Given the description of an element on the screen output the (x, y) to click on. 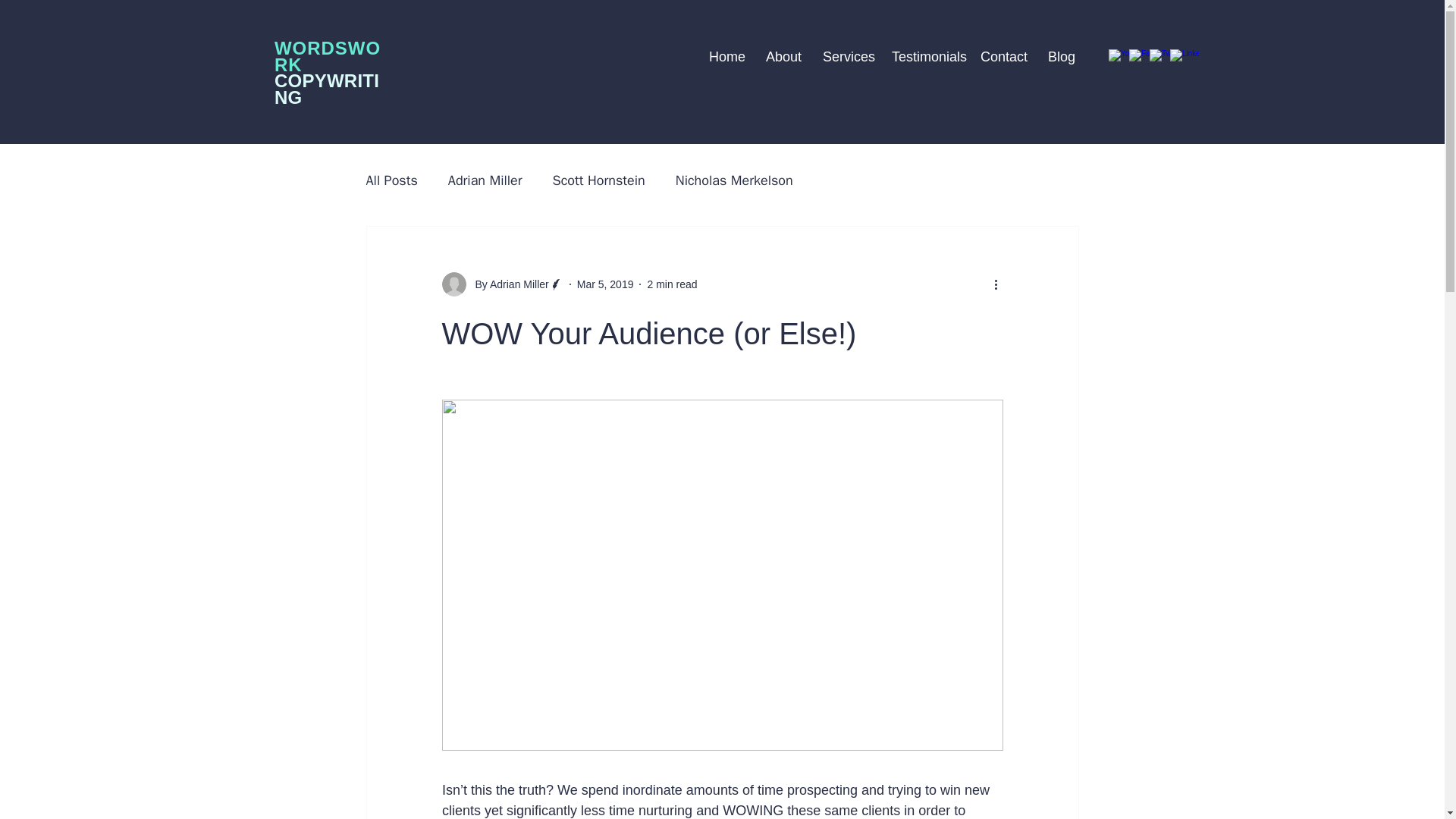
Services (845, 56)
2 min read (671, 284)
Blog (1060, 56)
Adrian Miller (485, 180)
Home (725, 56)
Testimonials (924, 56)
All Posts (390, 180)
About (782, 56)
Contact (1002, 56)
By Adrian Miller (501, 283)
